Given the description of an element on the screen output the (x, y) to click on. 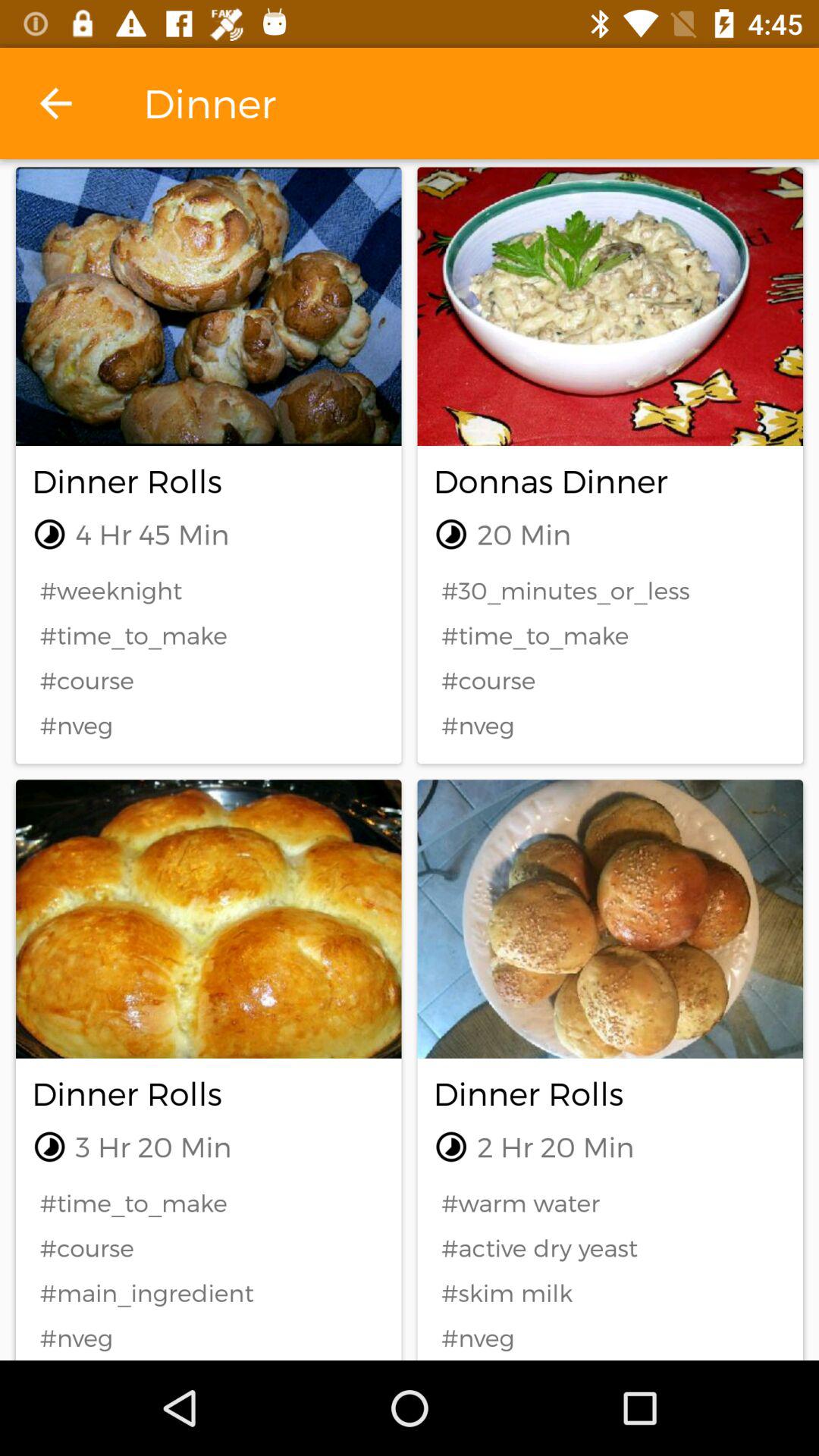
swipe to the #warm water (610, 1202)
